Given the description of an element on the screen output the (x, y) to click on. 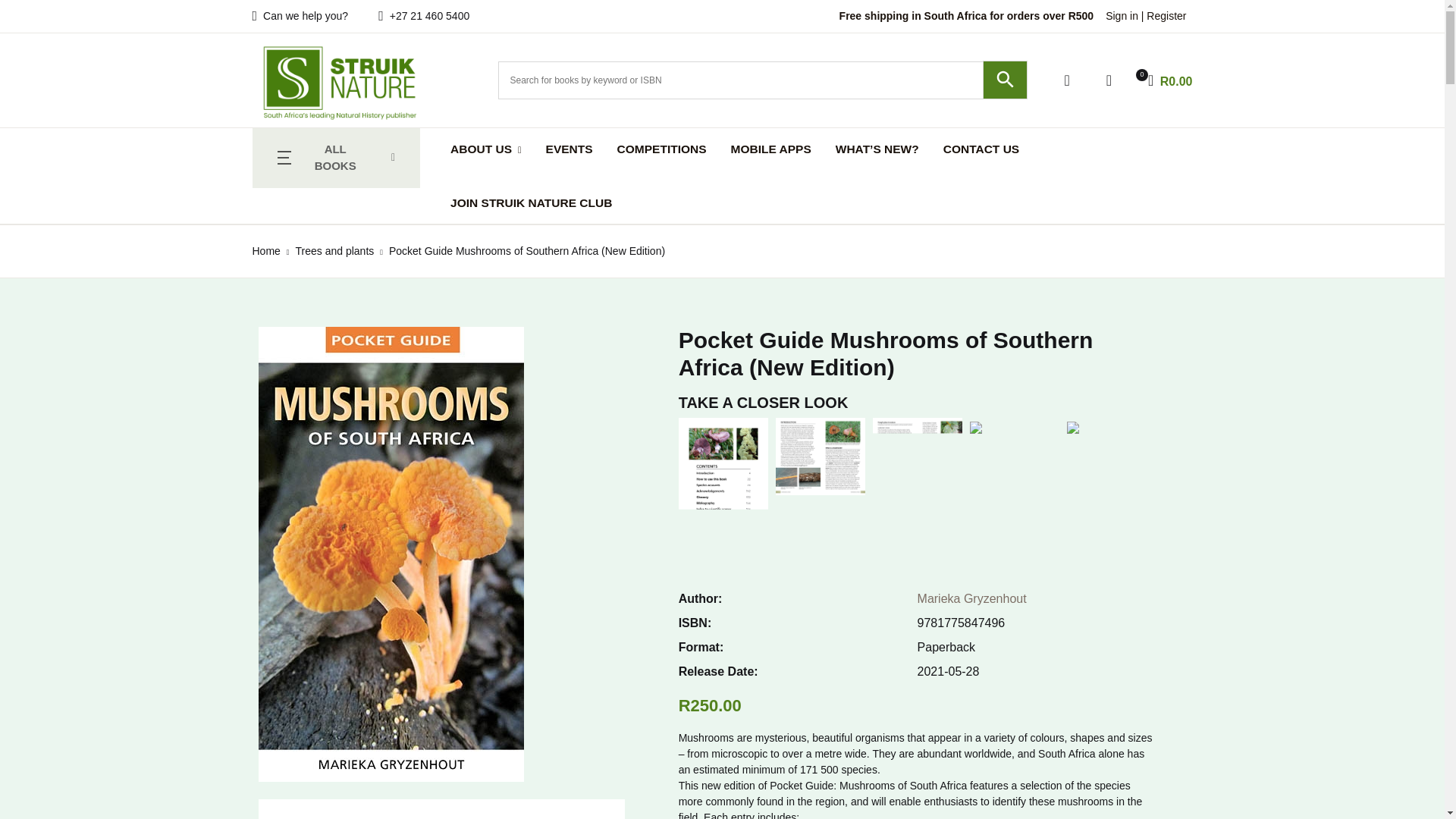
Can we help you? (299, 16)
ALL BOOKS (334, 157)
Free shipping in South Africa for orders over R500 (966, 16)
ALL BOOKS (336, 158)
Free shipping in South Africa for orders over R500 (966, 16)
Can we help you? (1163, 80)
